Given the description of an element on the screen output the (x, y) to click on. 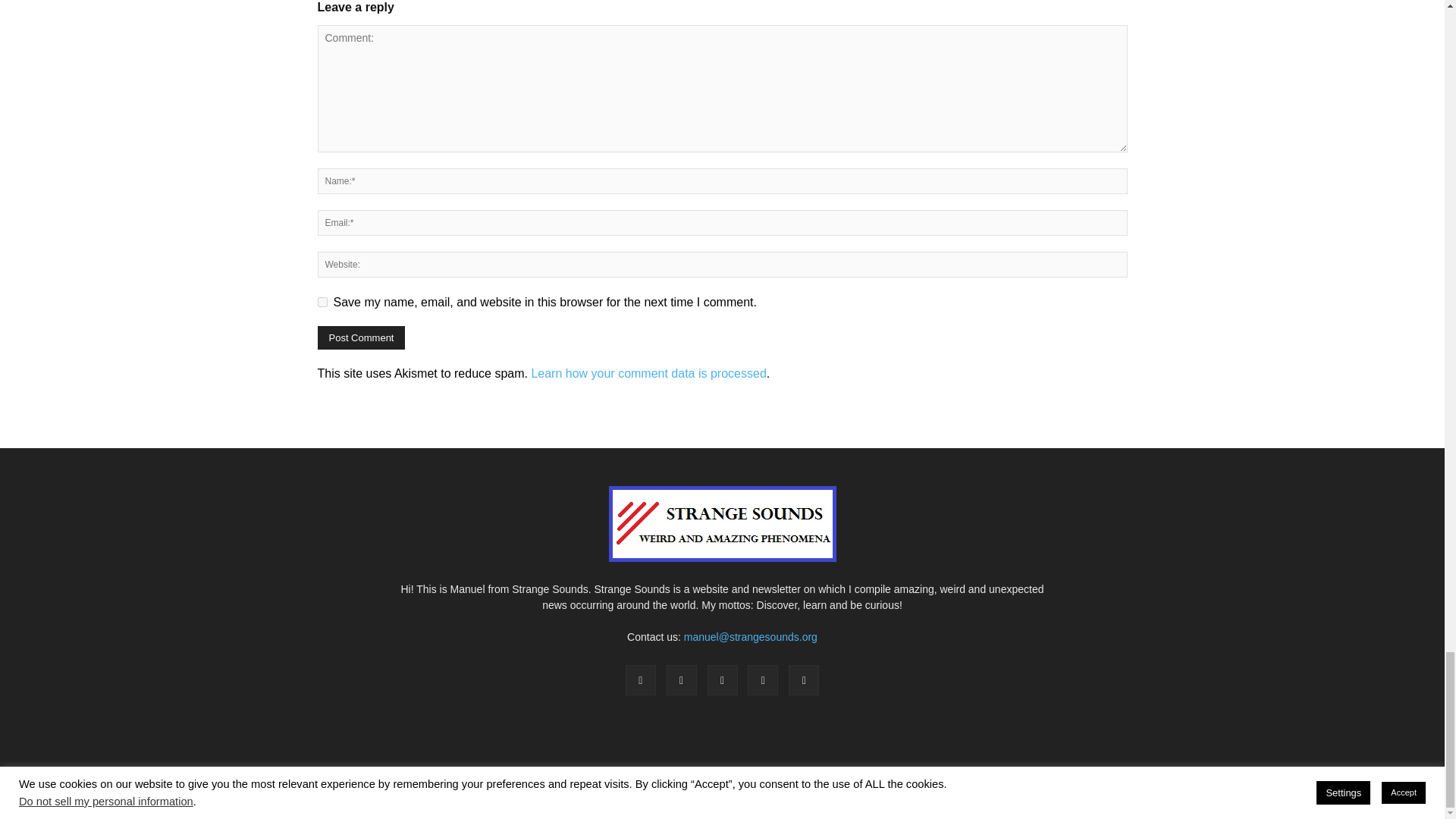
Post Comment (360, 337)
yes (321, 302)
